Given the description of an element on the screen output the (x, y) to click on. 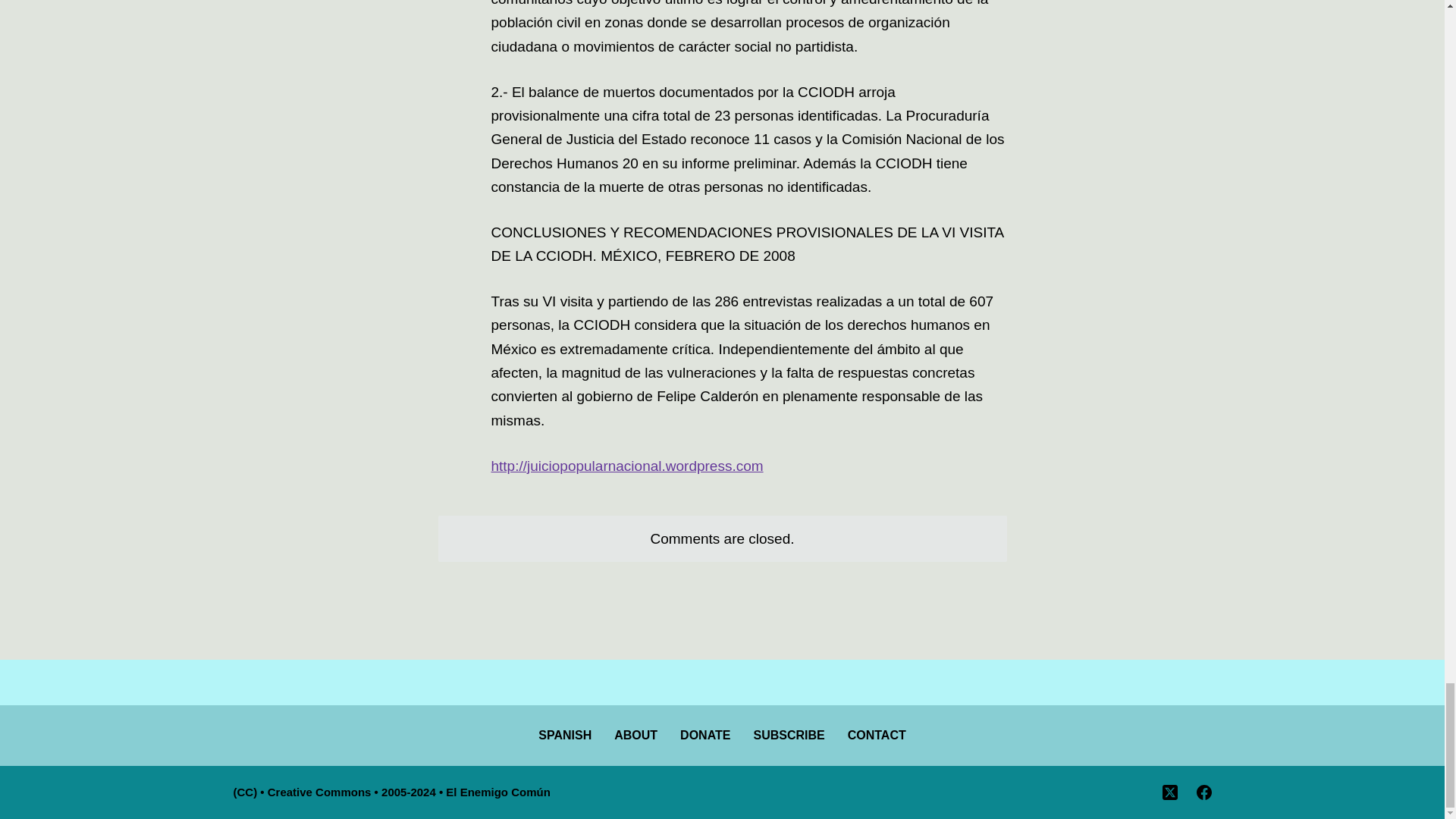
DONATE (704, 735)
SUBSCRIBE (788, 735)
ABOUT (635, 735)
SPANISH (564, 735)
Spanish (564, 735)
